Given the description of an element on the screen output the (x, y) to click on. 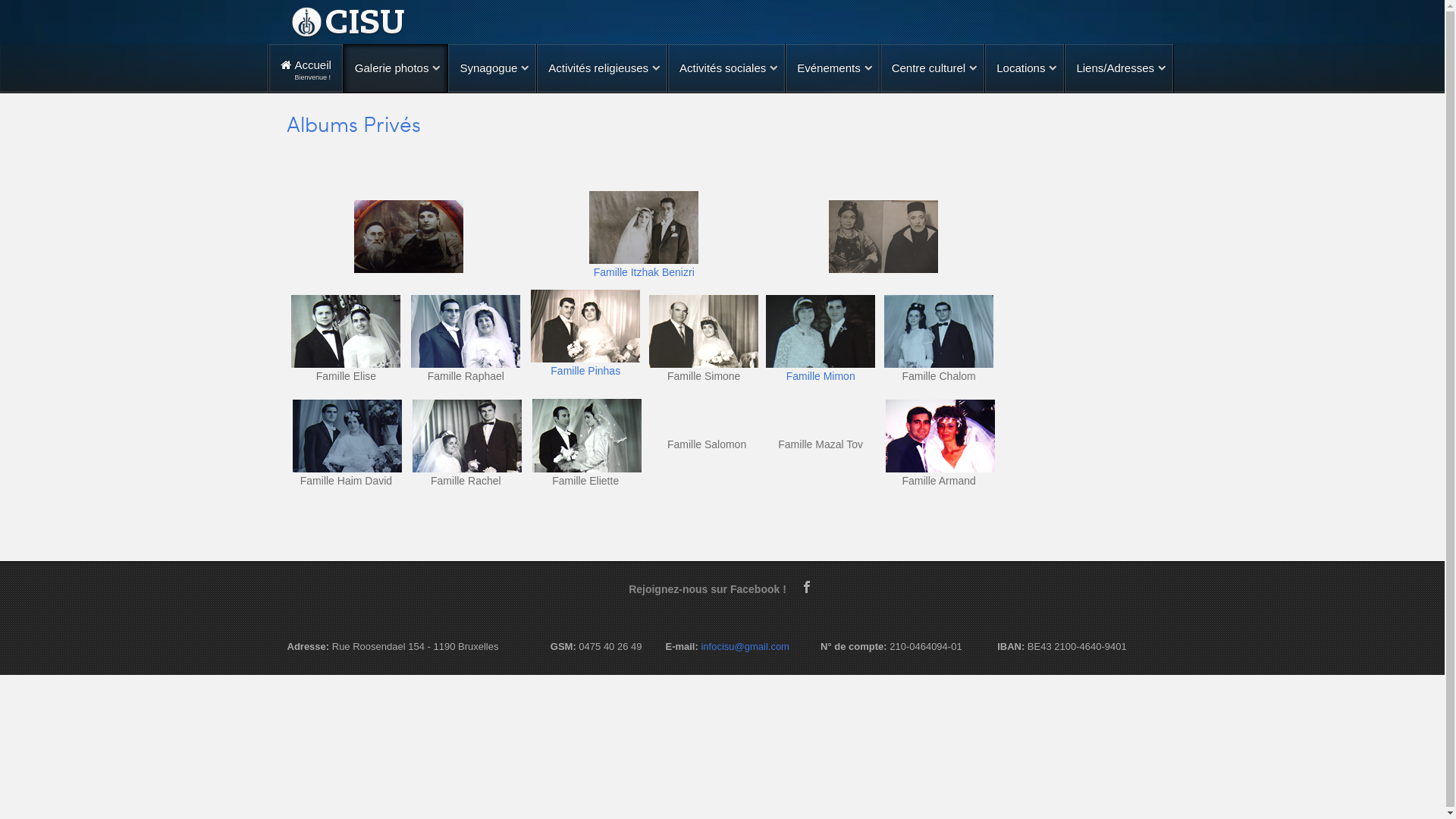
Famille Itzhak Benizri Element type: text (643, 272)
Accueil
Bienvenue ! Element type: text (305, 67)
Rejoignez-nous sur Facebook ! Element type: text (712, 589)
Locations Element type: text (1024, 67)
Famille Mimon Element type: text (820, 376)
Galerie photos Element type: text (395, 67)
Liens/Adresses Element type: text (1118, 67)
Synagogue Element type: text (492, 67)
Centre culturel Element type: text (932, 67)
infocisu@gmail.com Element type: text (744, 646)
Famille Pinhas Element type: text (585, 370)
